Given the description of an element on the screen output the (x, y) to click on. 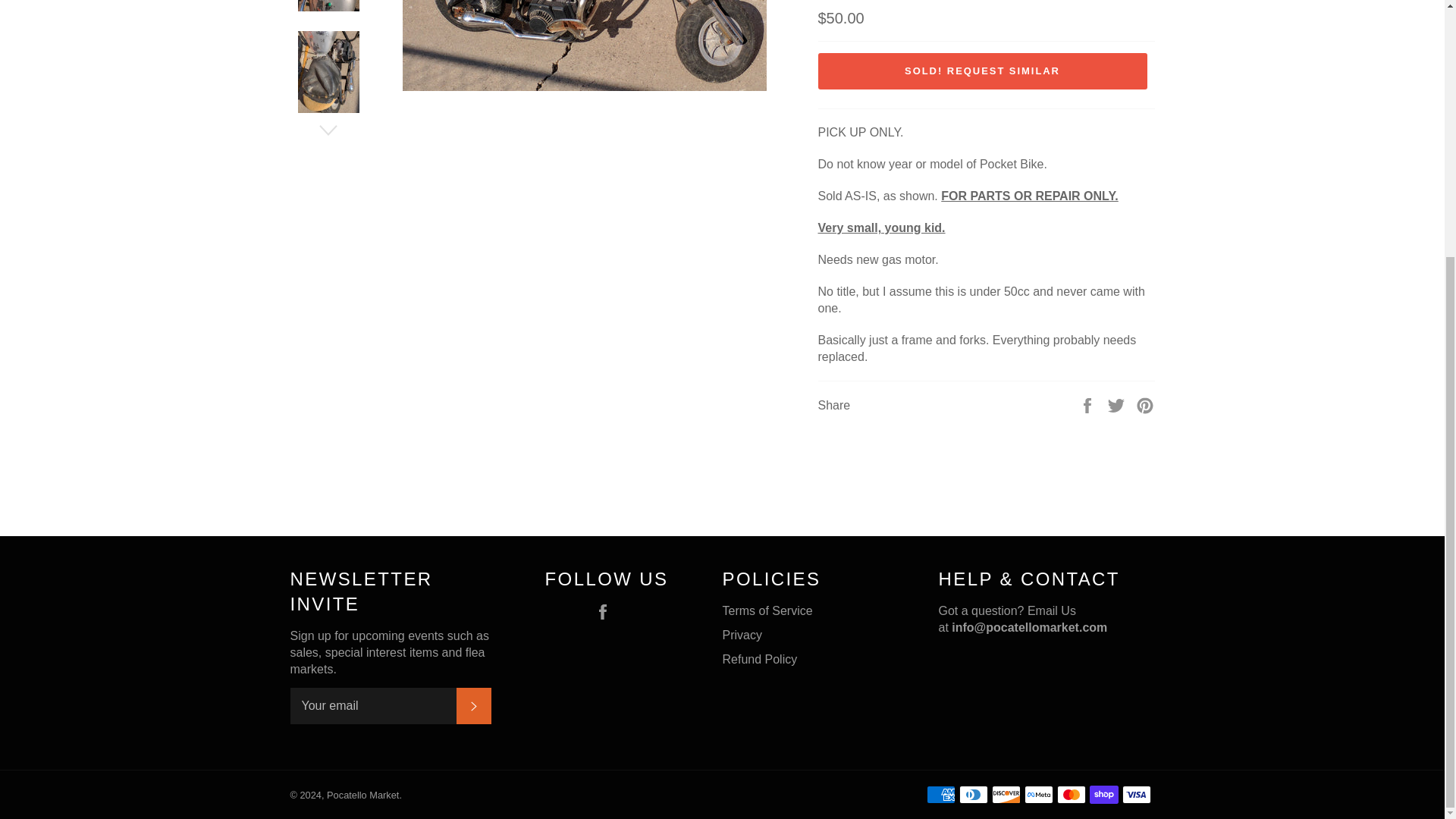
Tweet on Twitter (1117, 404)
Share on Facebook (1088, 404)
Pocatello Market on Facebook (607, 611)
Pin on Pinterest (1144, 404)
Contact Us (1029, 626)
